Given the description of an element on the screen output the (x, y) to click on. 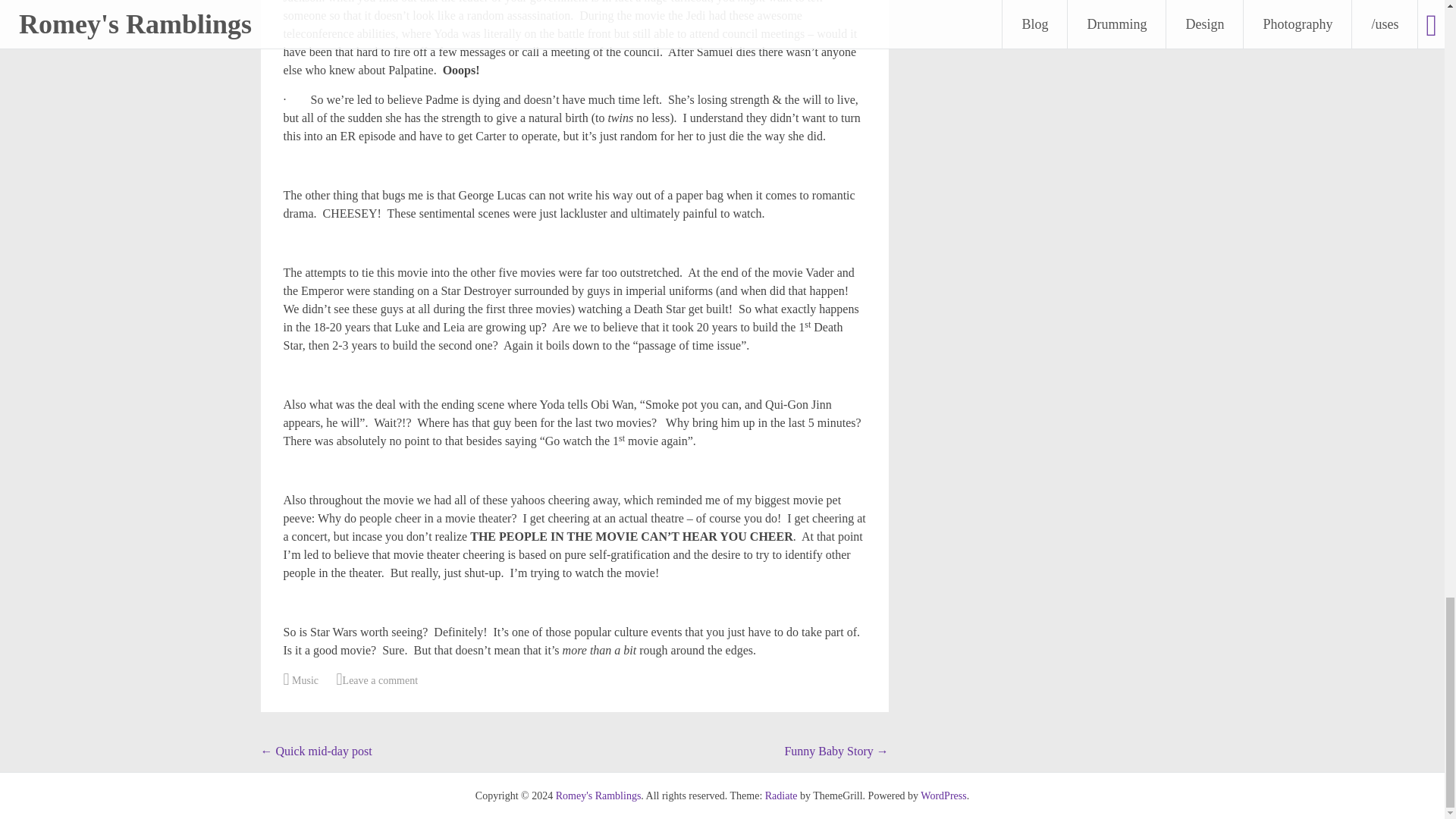
WordPress (943, 795)
Radiate (781, 795)
Romey's Ramblings (599, 795)
Leave a comment (387, 680)
Music (305, 680)
